Given the description of an element on the screen output the (x, y) to click on. 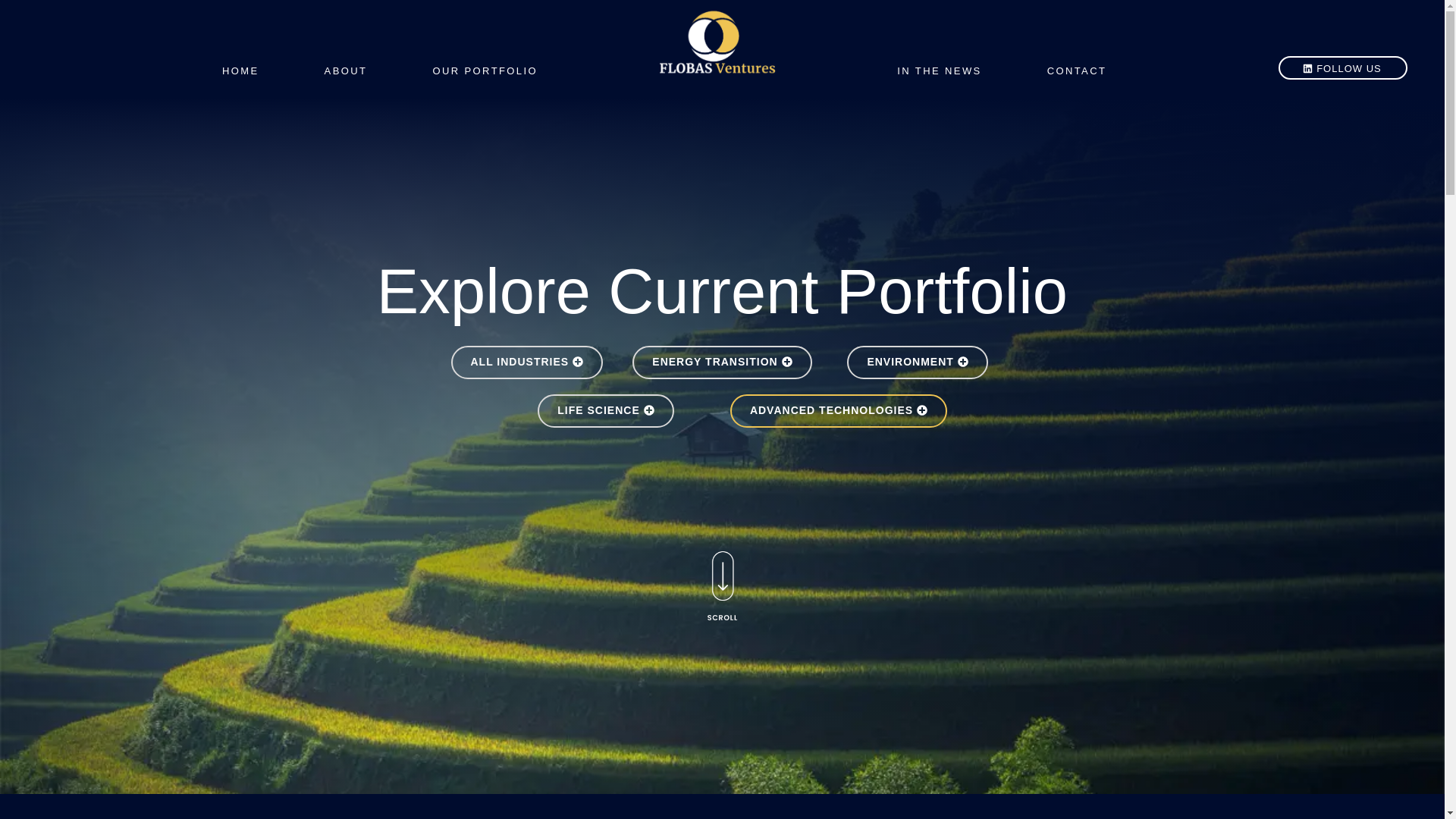
ENVIRONMENT (917, 362)
HOME (240, 70)
ALL INDUSTRIES (525, 362)
OUR PORTFOLIO (484, 70)
ENERGY TRANSITION (720, 362)
CONTACT (1077, 70)
LIFE SCIENCE (604, 410)
FOLLOW US (1342, 67)
IN THE NEWS (938, 70)
ABOUT (346, 70)
